Given the description of an element on the screen output the (x, y) to click on. 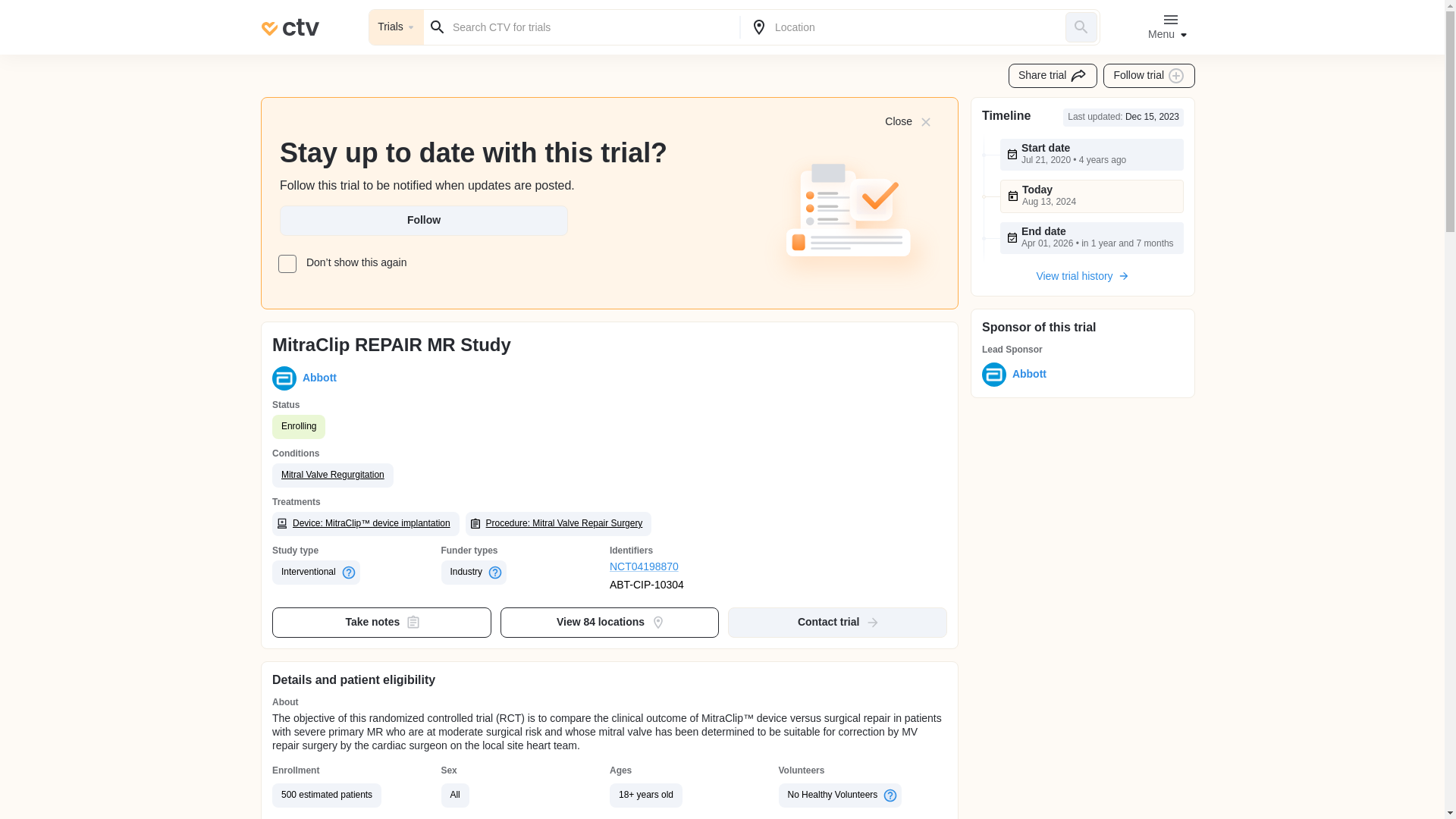
Abbott (1026, 374)
Trials (396, 27)
Contact trial (837, 622)
Share trial (1053, 75)
View 84 locations (609, 622)
Take notes (382, 622)
Follow (423, 220)
Close (907, 121)
NCT04198870 (694, 567)
View trial history (1082, 275)
